Given the description of an element on the screen output the (x, y) to click on. 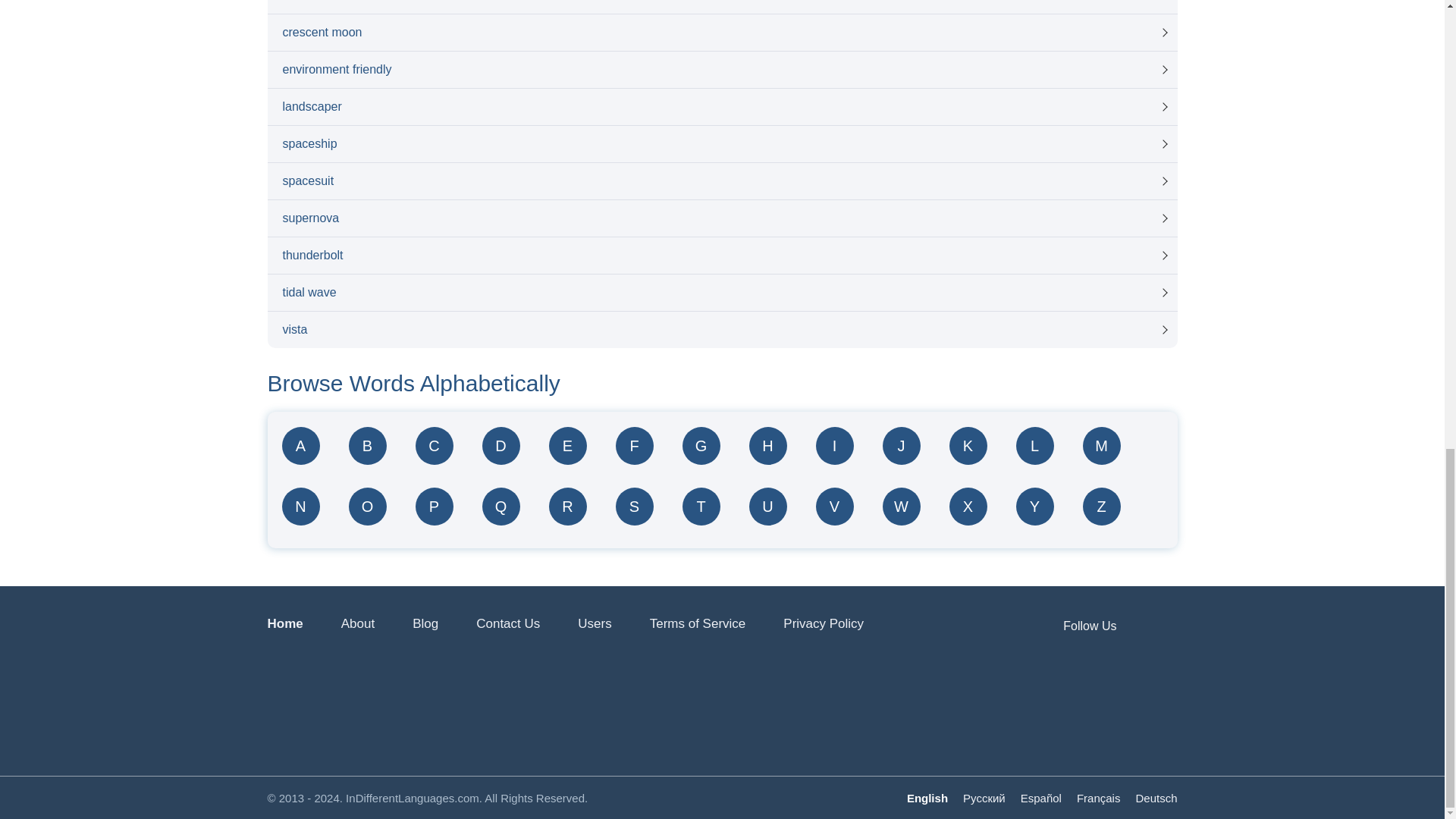
landscaper (721, 106)
spaceship (721, 144)
crescent moon (721, 32)
environment friendly (721, 69)
thunderbolt (721, 255)
avalanche (721, 6)
spacesuit (721, 180)
supernova (721, 217)
